Given the description of an element on the screen output the (x, y) to click on. 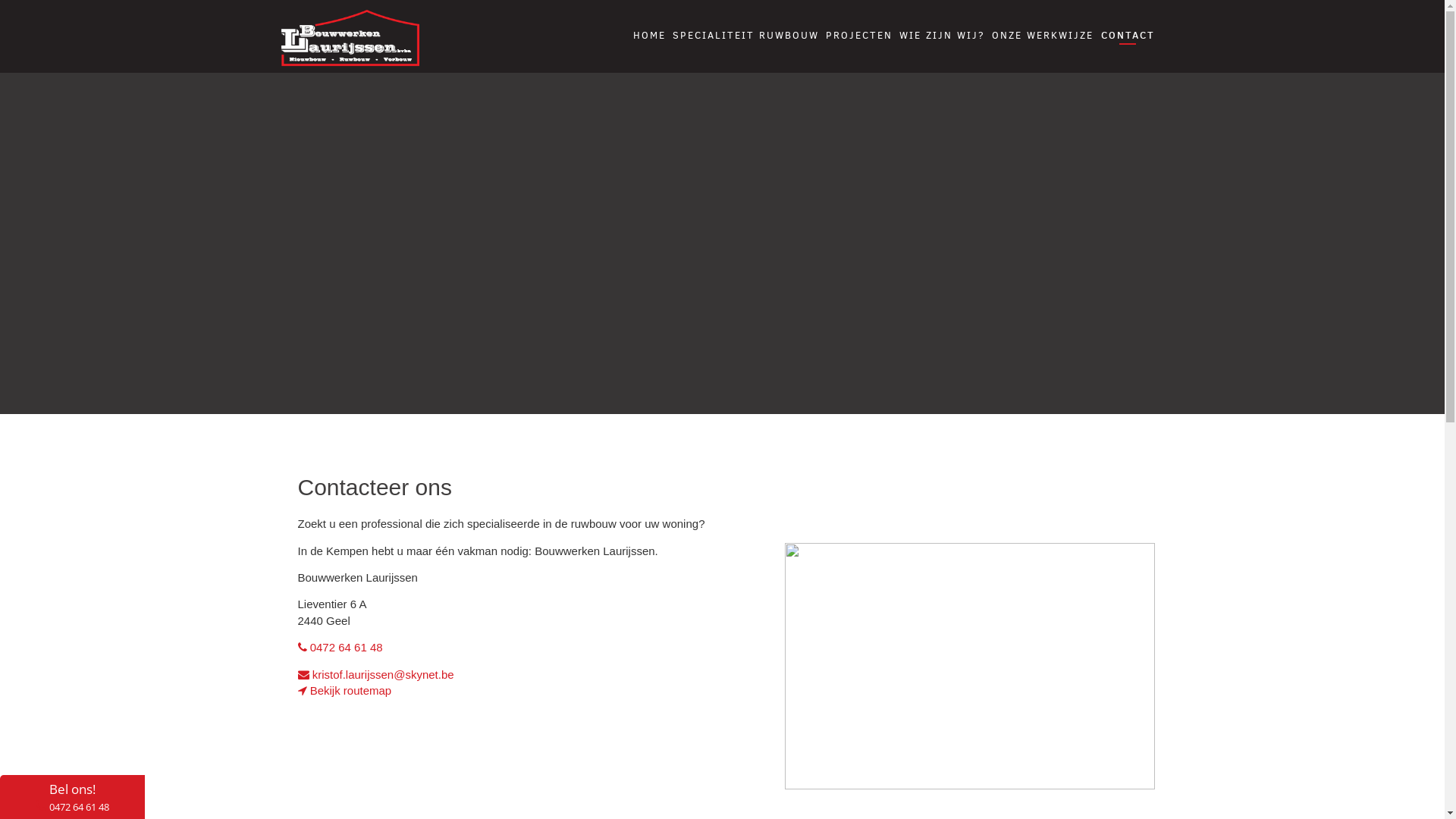
PROJECTEN Element type: text (858, 34)
0472 64 61 48 Element type: text (79, 806)
SPECIALITEIT RUWBOUW Element type: text (745, 34)
0472 64 61 48 Element type: text (346, 646)
kristof.laurijssen@skynet.be Element type: text (383, 674)
WIE ZIJN WIJ? Element type: text (942, 34)
 Bekijk routemap Element type: text (344, 690)
ONZE WERKWIJZE Element type: text (1042, 34)
HOME Element type: text (649, 34)
CONTACT Element type: text (1127, 34)
